Given the description of an element on the screen output the (x, y) to click on. 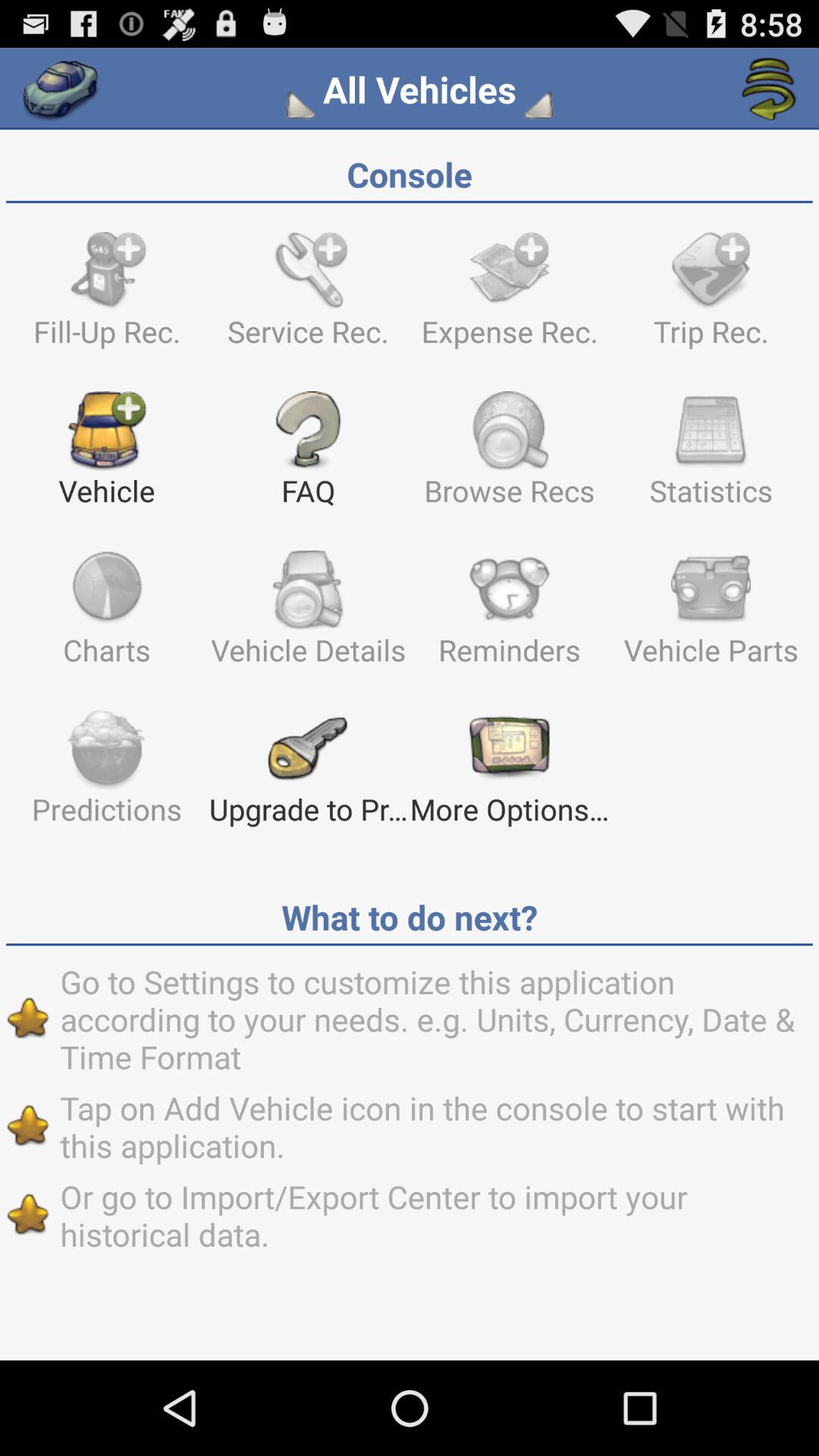
choose icon next to browse recs item (710, 455)
